Given the description of an element on the screen output the (x, y) to click on. 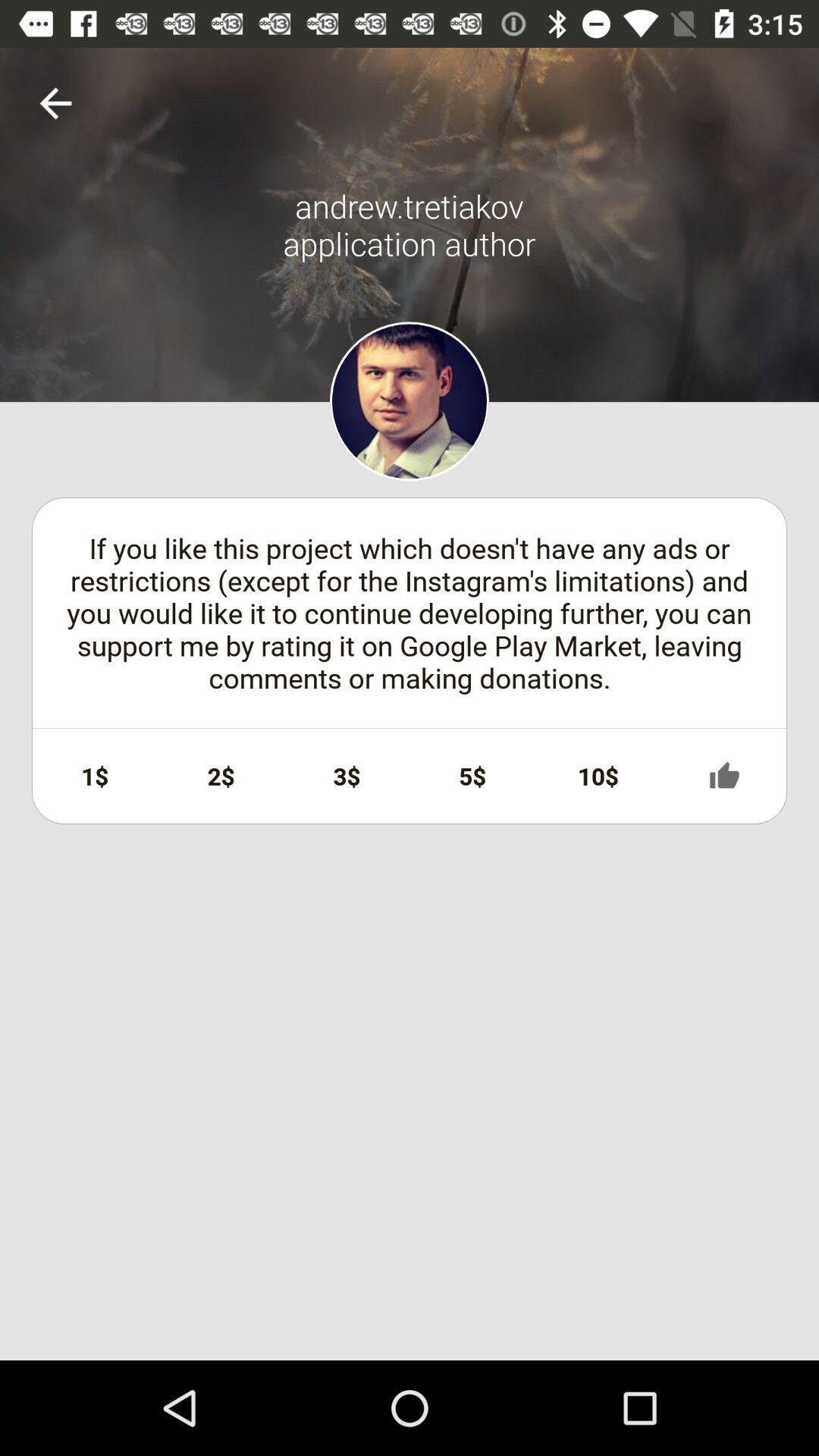
click icon to the right of 2$ (347, 776)
